Given the description of an element on the screen output the (x, y) to click on. 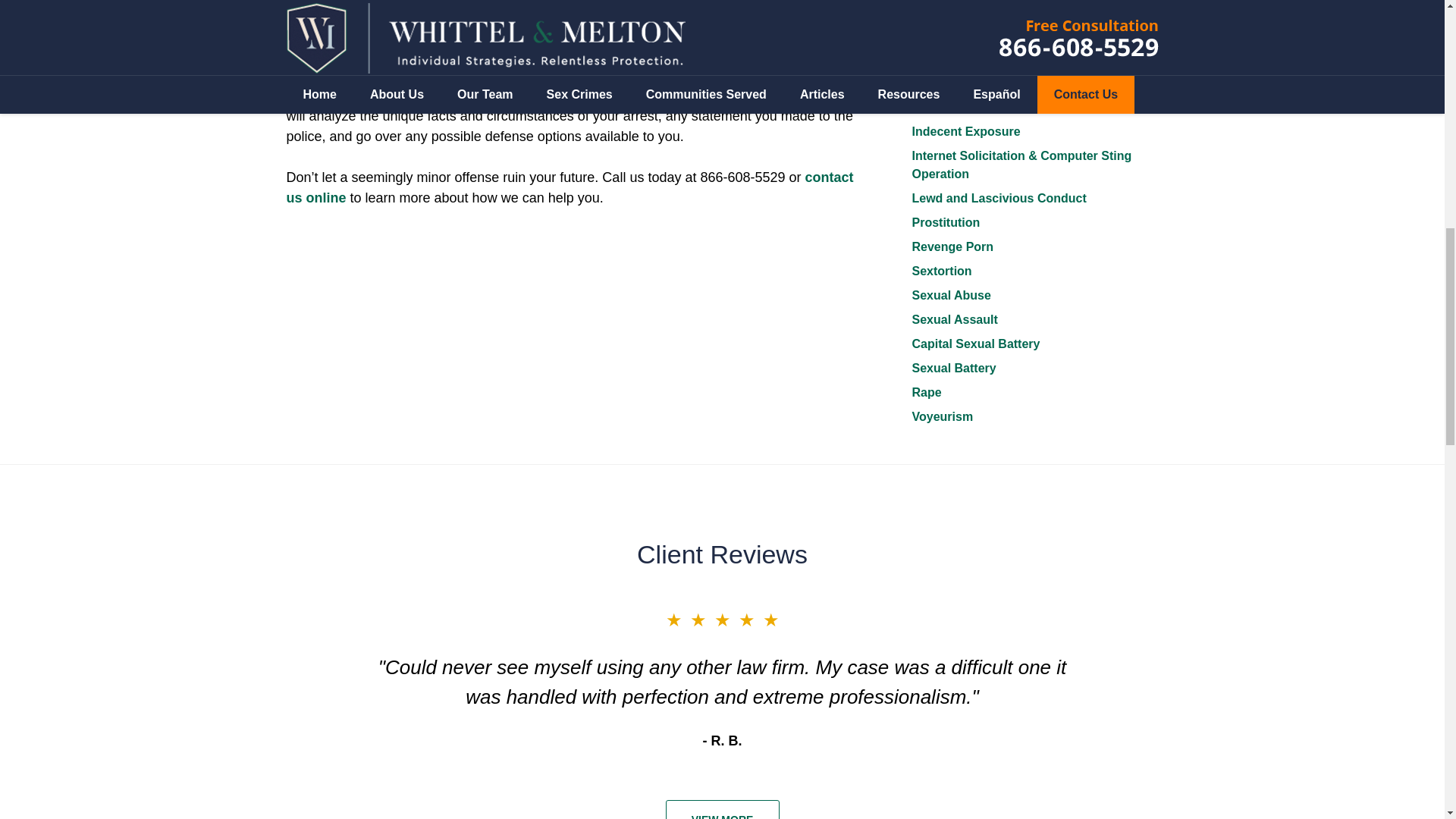
Rape (925, 391)
Prostitution (945, 222)
Lewd and Lascivious Conduct (998, 197)
Florida Sex Crimes Defense Attorneys (457, 33)
Sextortion (941, 270)
Capital Sexual Battery (975, 343)
Revenge Porn (951, 246)
Indecent Exposure (965, 131)
Voyeurism (941, 416)
Human Trafficking (964, 106)
Sexual Assault (954, 318)
Sexual Battery (953, 367)
Sexual Abuse (950, 295)
Child Molestation (961, 15)
Child Pornography (965, 40)
